Given the description of an element on the screen output the (x, y) to click on. 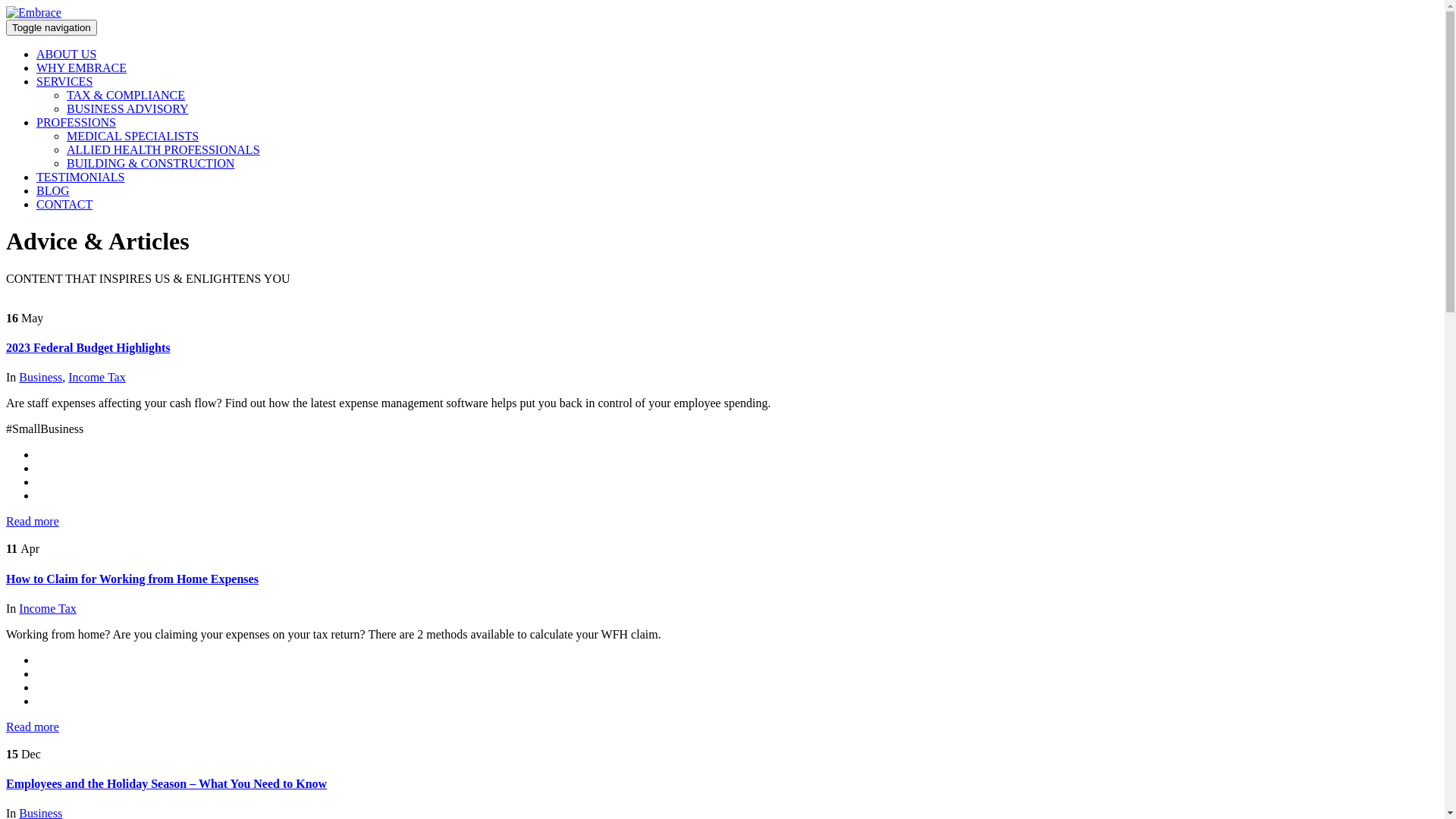
SERVICES Element type: text (64, 81)
Toggle navigation Element type: text (51, 27)
TESTIMONIALS Element type: text (80, 176)
PROFESSIONS Element type: text (76, 122)
TAX & COMPLIANCE Element type: text (125, 94)
Income Tax Element type: text (96, 376)
CONTACT Element type: text (64, 203)
WHY EMBRACE Element type: text (81, 67)
MEDICAL SPECIALISTS Element type: text (132, 135)
2023 Federal Budget Highlights Element type: text (87, 347)
Income Tax Element type: text (46, 608)
ALLIED HEALTH PROFESSIONALS Element type: text (163, 149)
Business Element type: text (40, 376)
BUSINESS ADVISORY Element type: text (127, 108)
Read more Element type: text (32, 726)
BLOG Element type: text (52, 190)
How to Claim for Working from Home Expenses Element type: text (132, 578)
BUILDING & CONSTRUCTION Element type: text (150, 162)
Read more Element type: text (32, 520)
ABOUT US Element type: text (66, 53)
